Given the description of an element on the screen output the (x, y) to click on. 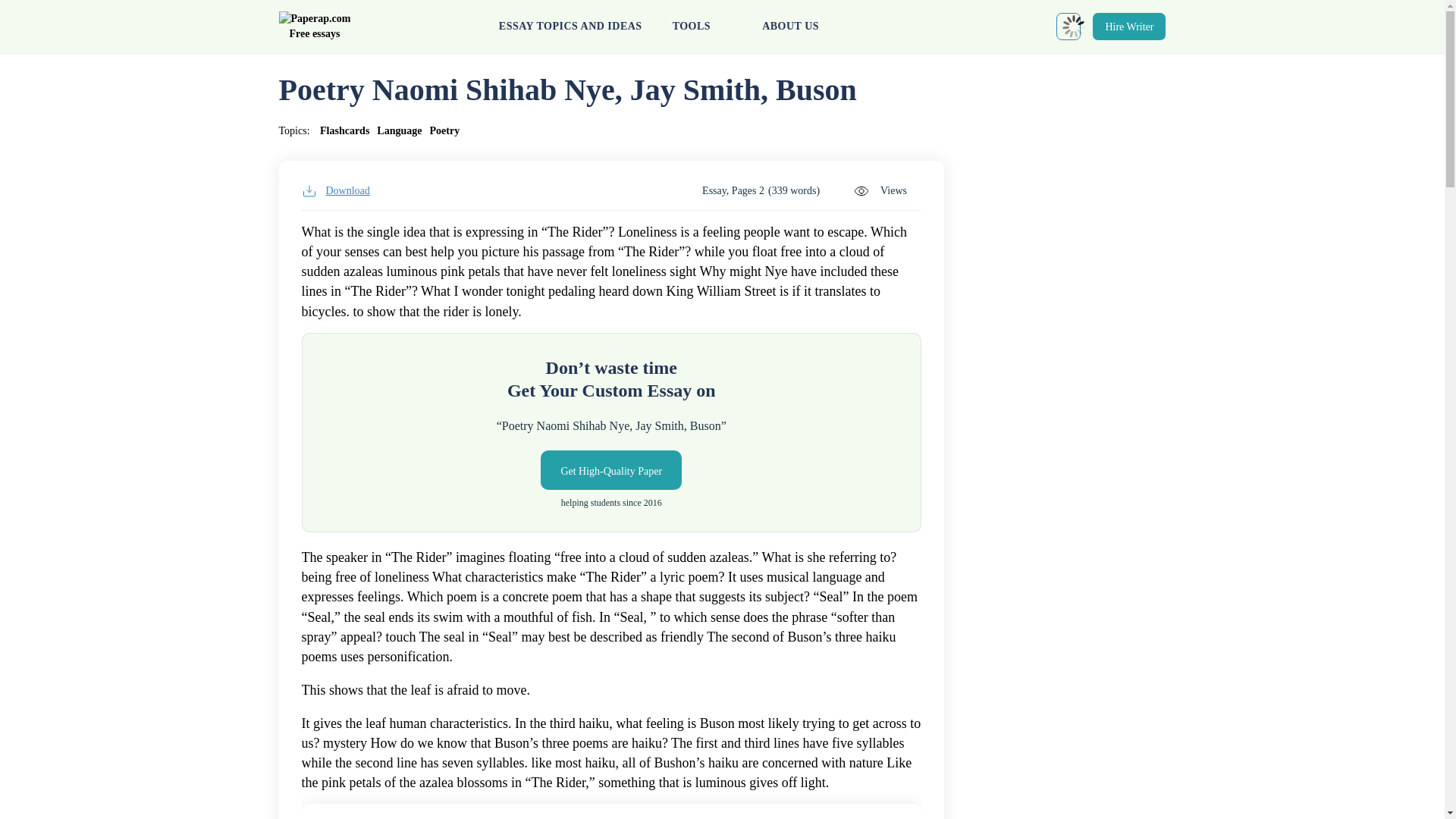
Get High-Quality Paper (610, 469)
TOOLS (703, 26)
ABOUT US (790, 26)
Language (399, 130)
Hire Writer (1129, 26)
ESSAY TOPICS AND IDEAS (570, 26)
Download (335, 191)
Free essays (314, 26)
Flashcards (344, 130)
Poetry (444, 130)
